Given the description of an element on the screen output the (x, y) to click on. 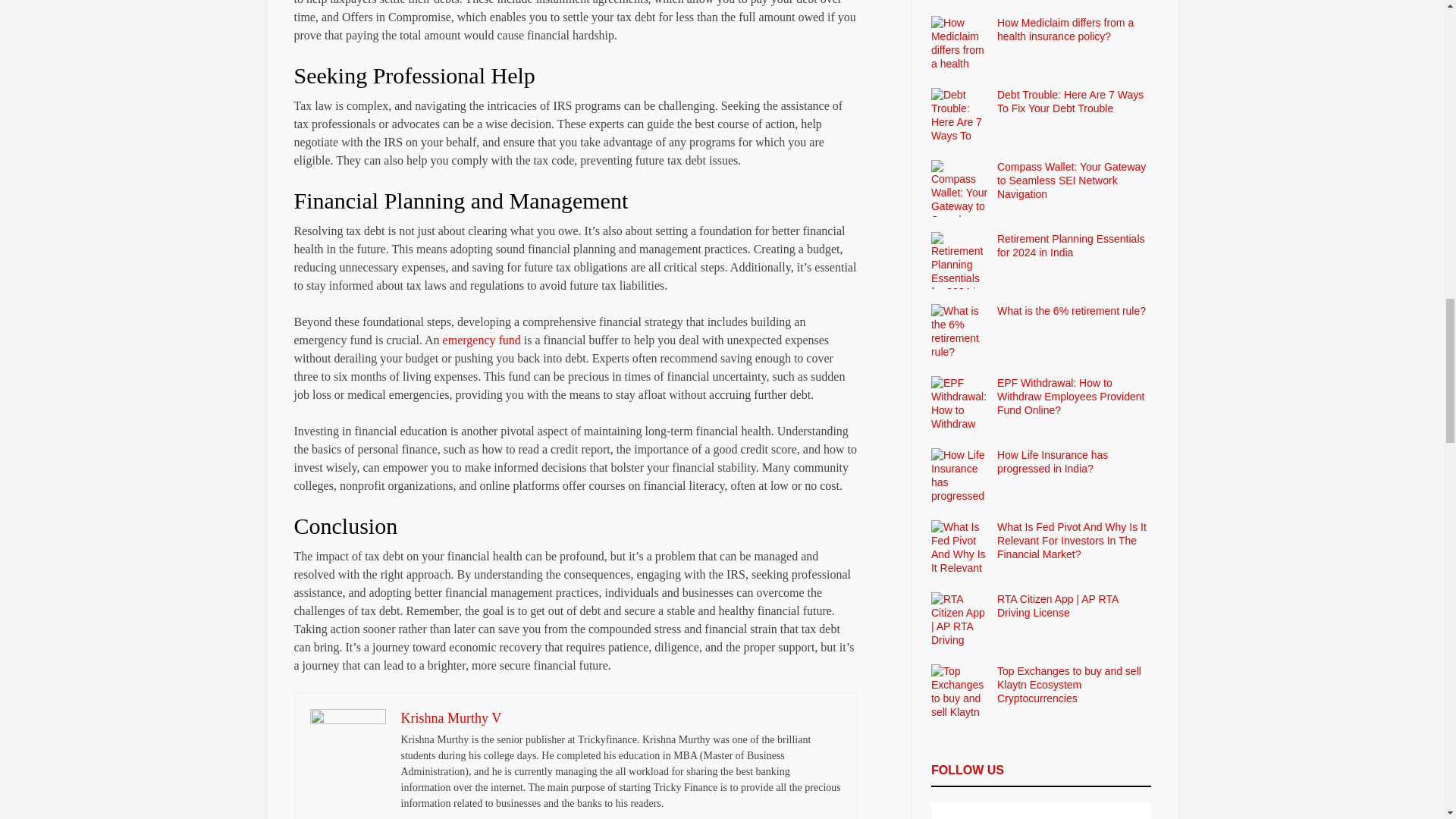
emergency fund (481, 339)
Krishna Murthy V (450, 717)
